Given the description of an element on the screen output the (x, y) to click on. 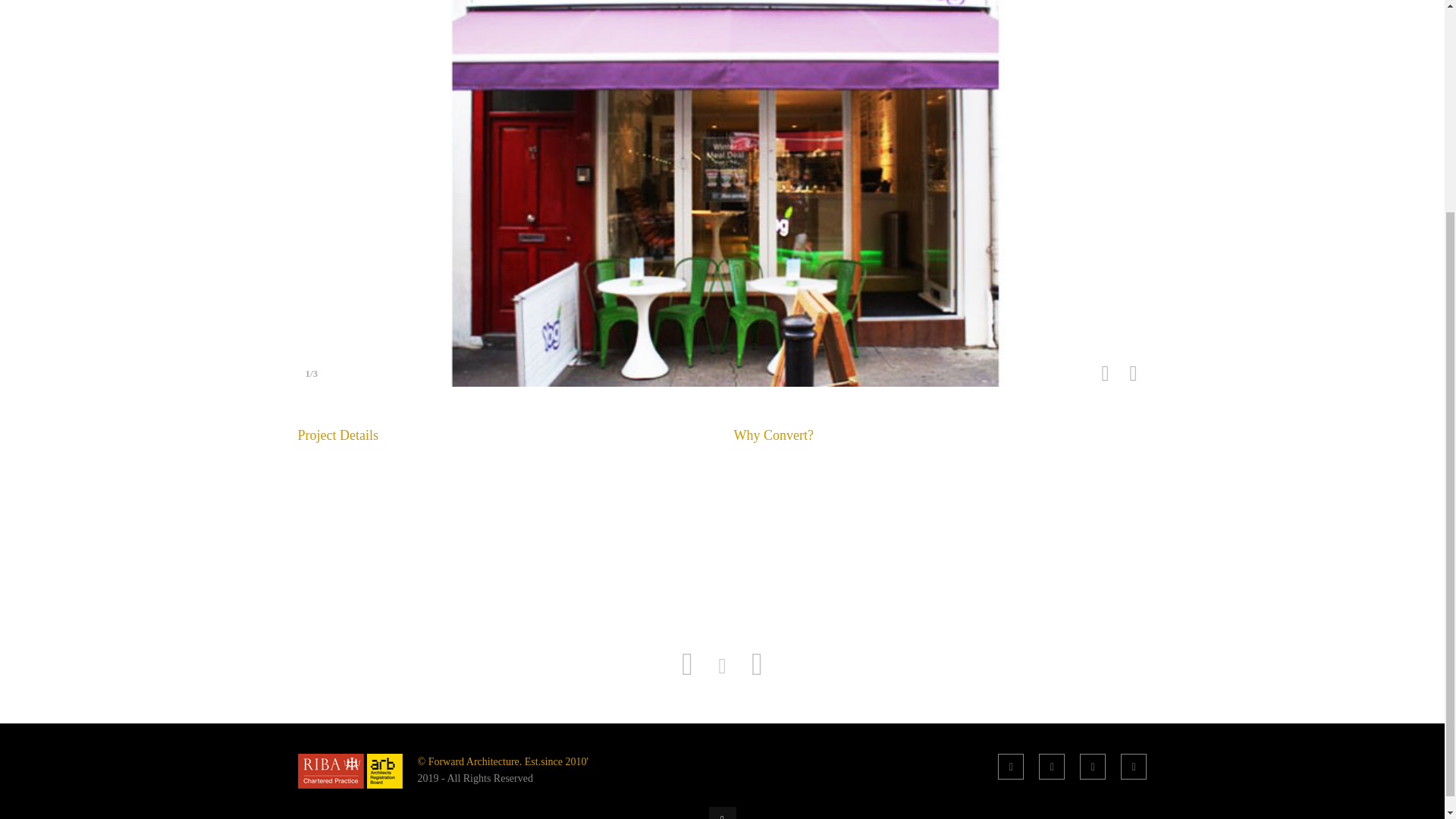
twitter (1051, 766)
facebook (1010, 766)
instagram (1134, 766)
pinterest (1092, 766)
